Given the description of an element on the screen output the (x, y) to click on. 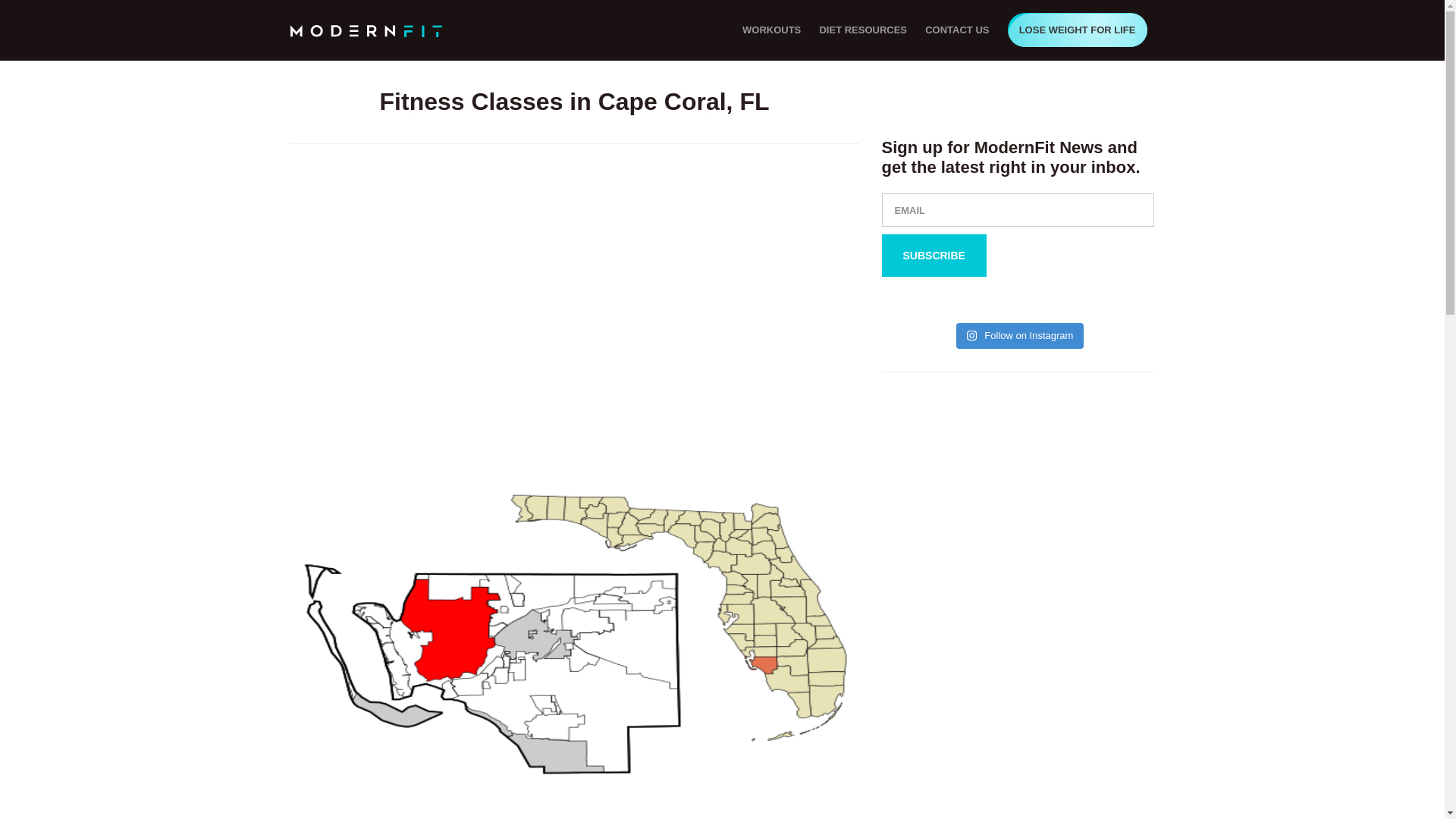
CONTACT US (956, 30)
Subscribe (932, 255)
DIET RESOURCES (862, 30)
Follow on Instagram (1020, 335)
WORKOUTS (771, 30)
Subscribe (932, 255)
LOSE WEIGHT FOR LIFE (1077, 30)
